Given the description of an element on the screen output the (x, y) to click on. 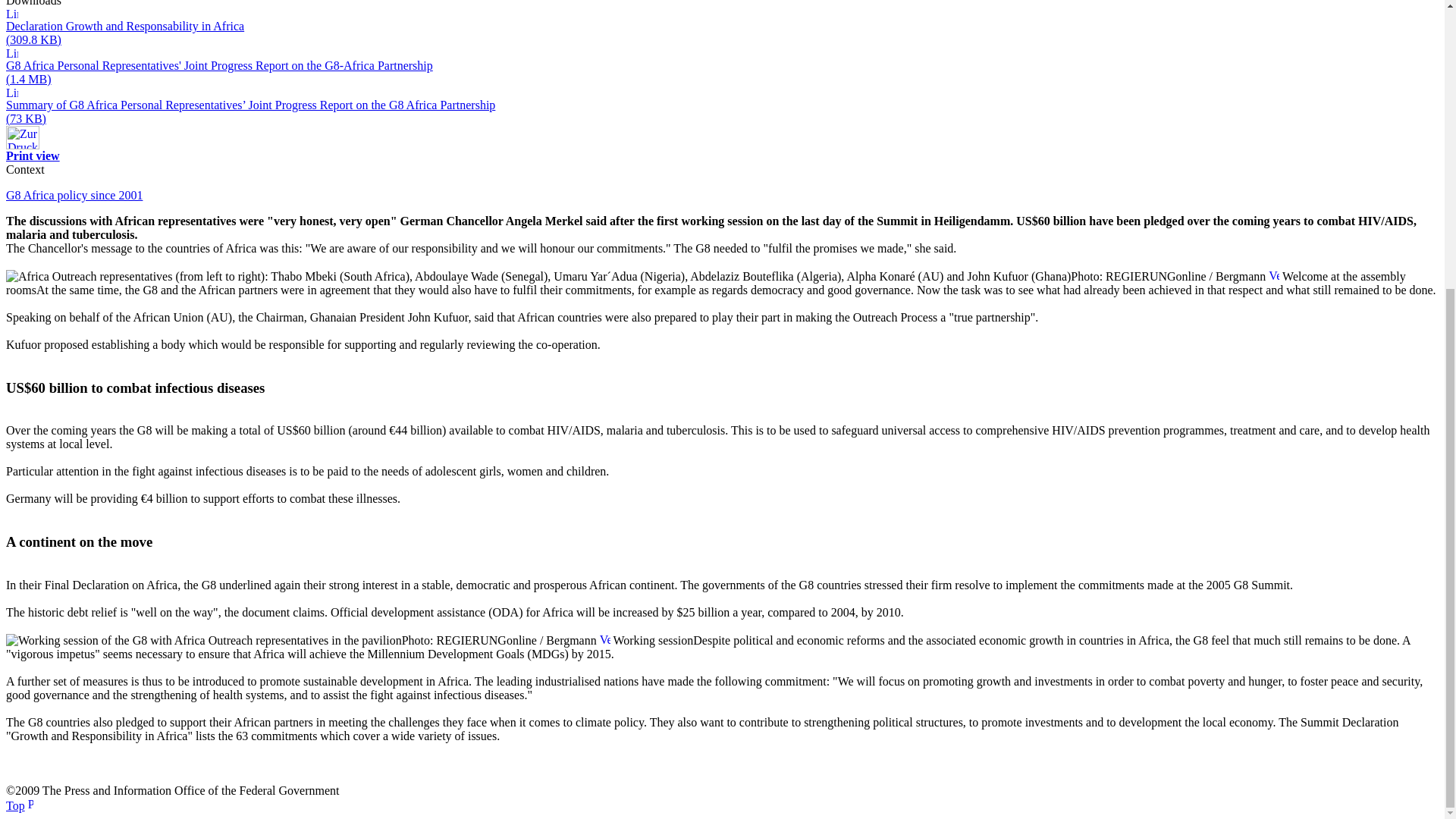
Top (14, 805)
G8 Africa policy since 2001 (73, 195)
Print view (32, 155)
